Given the description of an element on the screen output the (x, y) to click on. 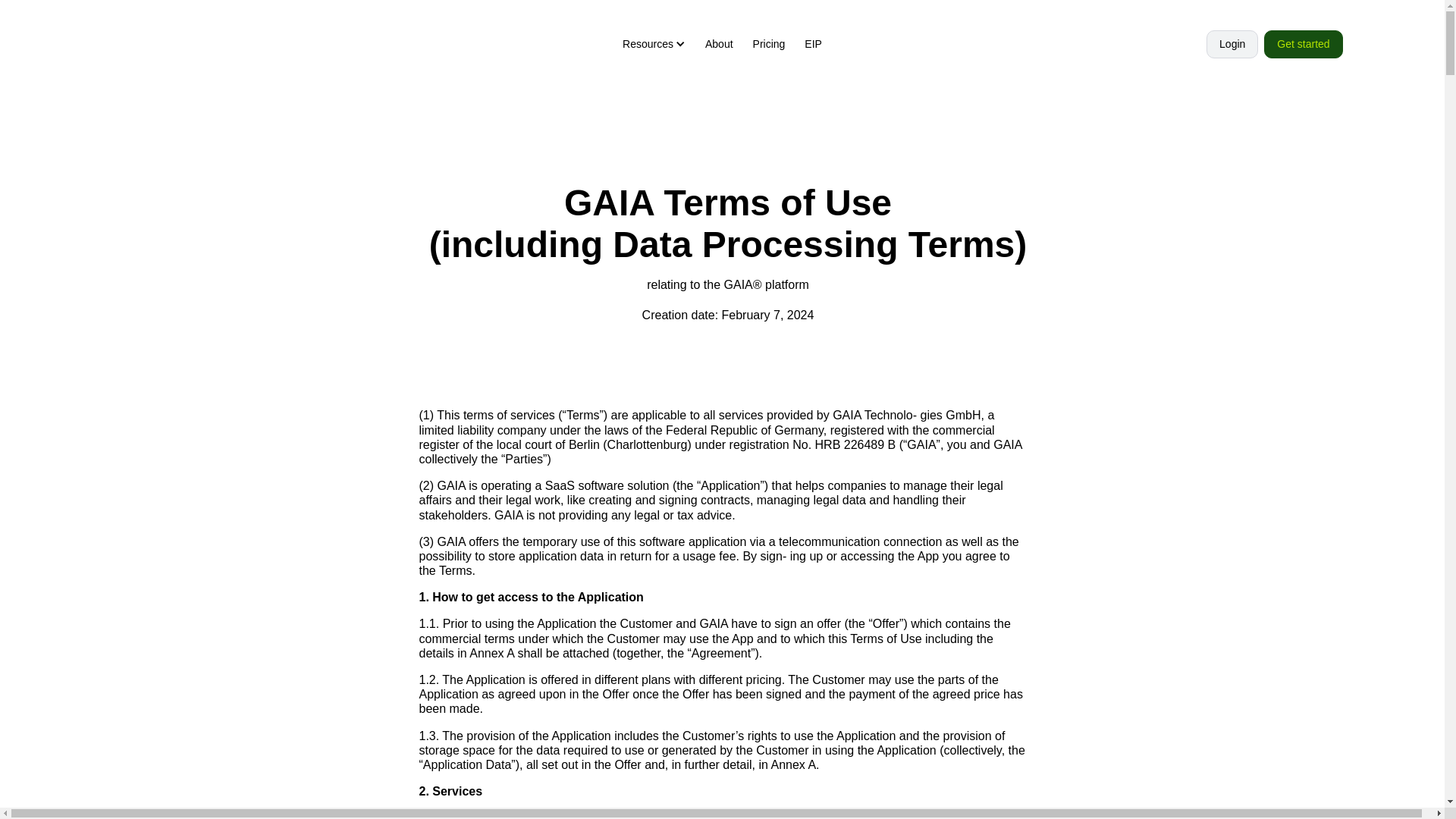
EIP (697, 657)
About (702, 631)
Get started (296, 474)
Pricing (704, 605)
Get started (1302, 44)
Resources (714, 710)
Terms of Use (1030, 605)
Subscribe (957, 474)
Pricing (769, 44)
About (718, 44)
